Given the description of an element on the screen output the (x, y) to click on. 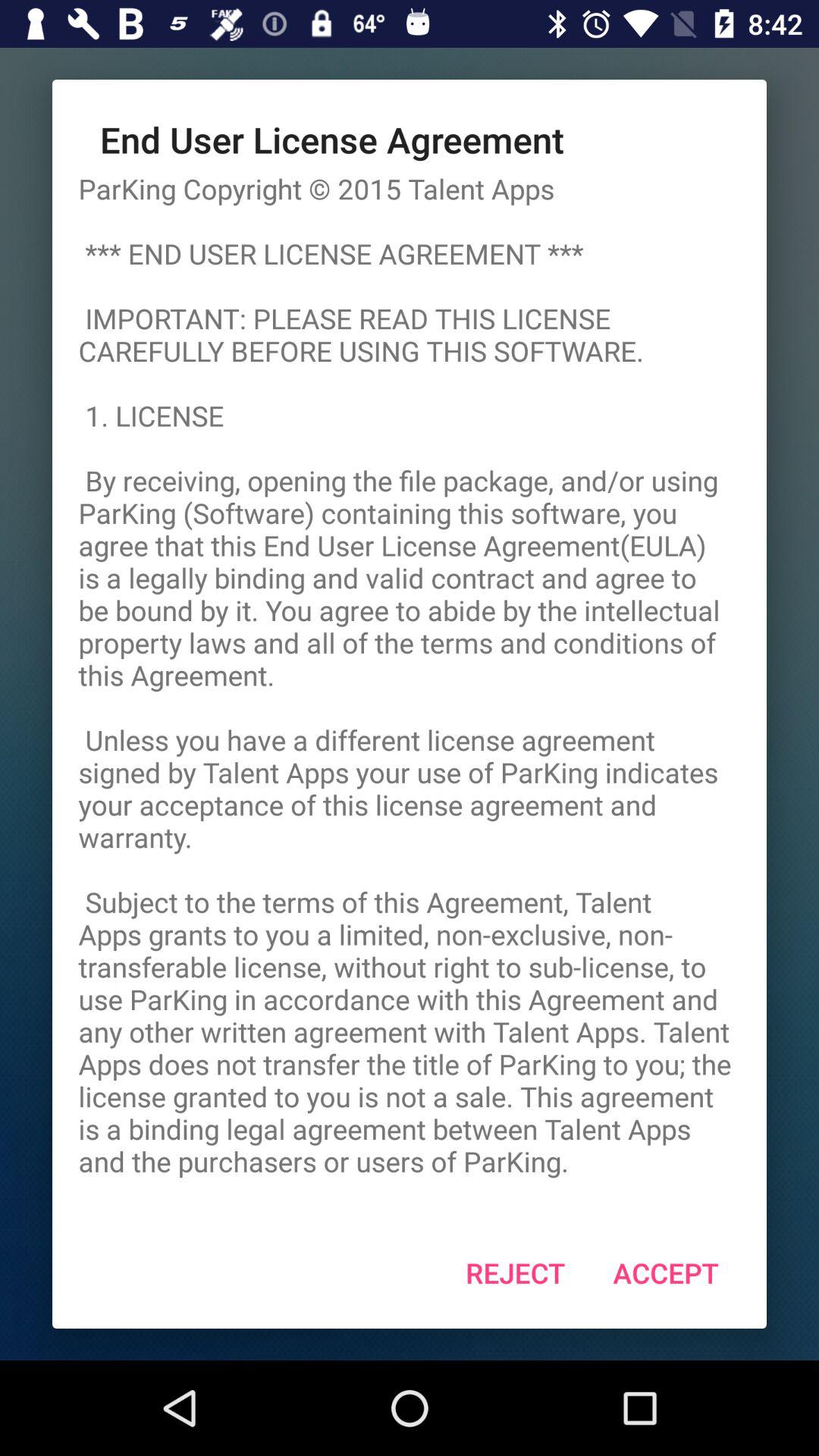
launch the reject item (515, 1272)
